Given the description of an element on the screen output the (x, y) to click on. 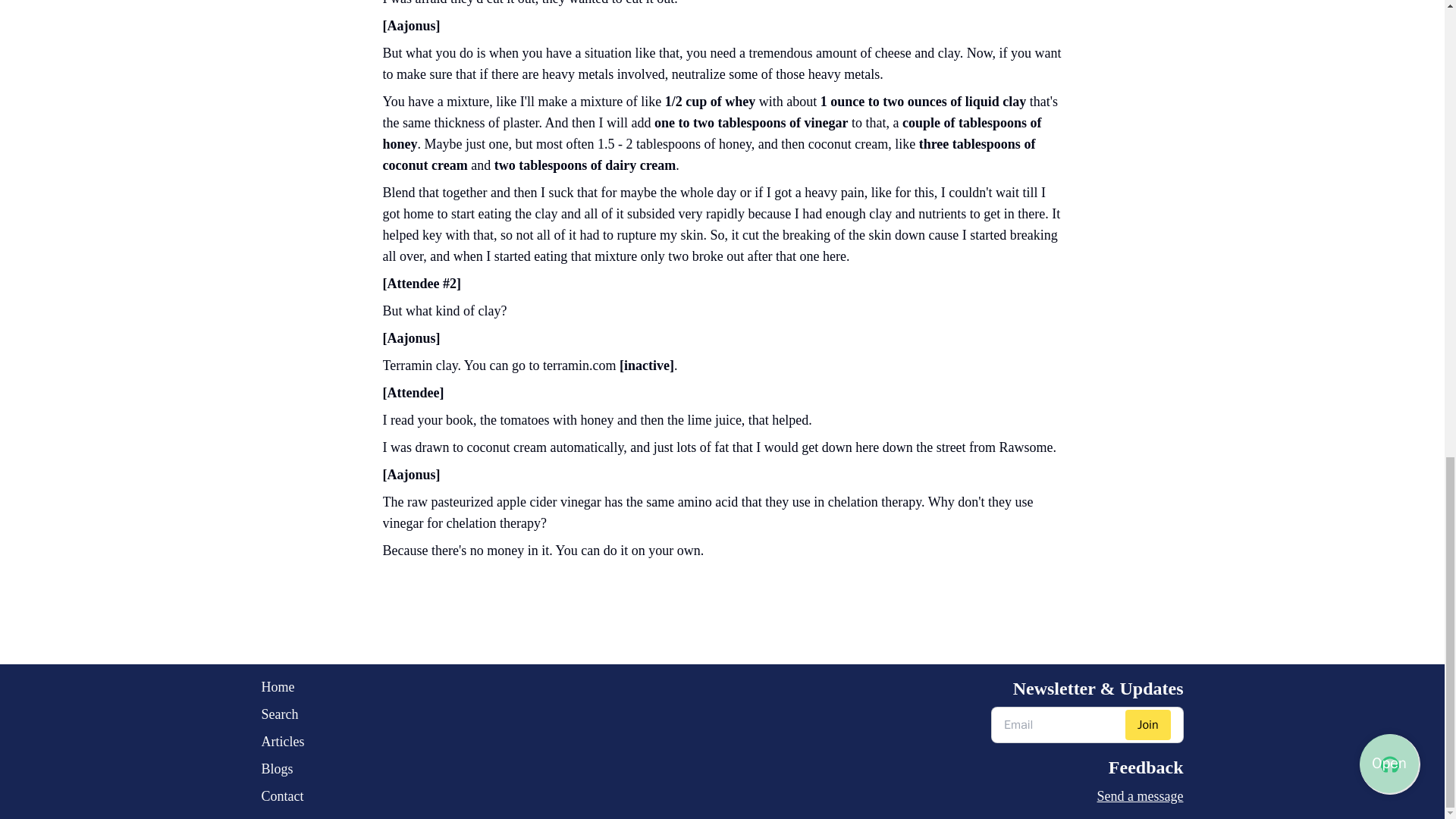
Articles (282, 741)
Join (1147, 725)
Blogs (282, 768)
Home (282, 686)
Search (282, 713)
Contact (282, 795)
Send a message (1086, 795)
